Given the description of an element on the screen output the (x, y) to click on. 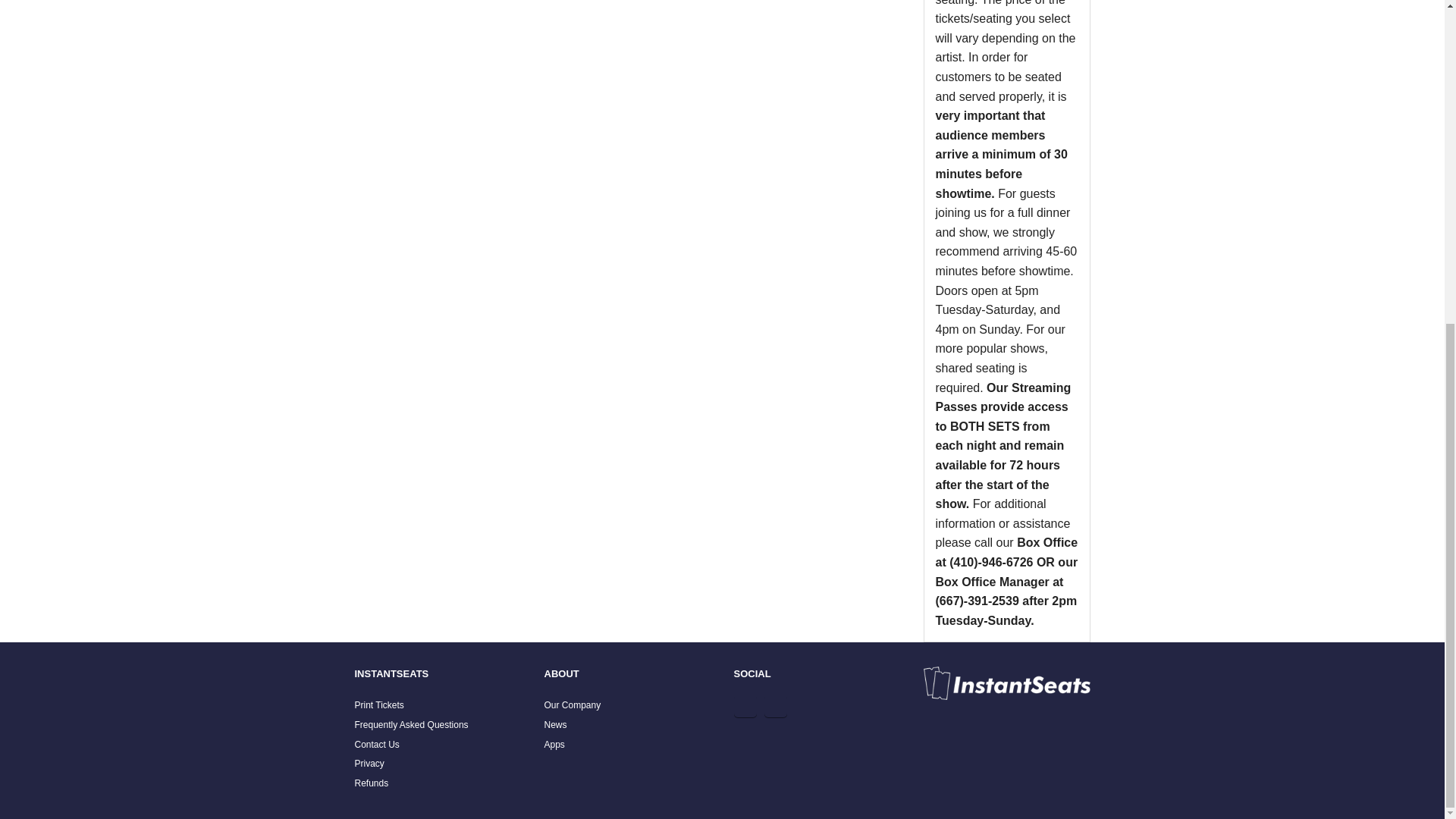
Privacy (369, 763)
Apps (554, 744)
Contact Us (376, 744)
Our Company (572, 705)
Refunds (371, 783)
News (555, 724)
Frequently Asked Questions (411, 724)
Print Tickets (379, 705)
